Given the description of an element on the screen output the (x, y) to click on. 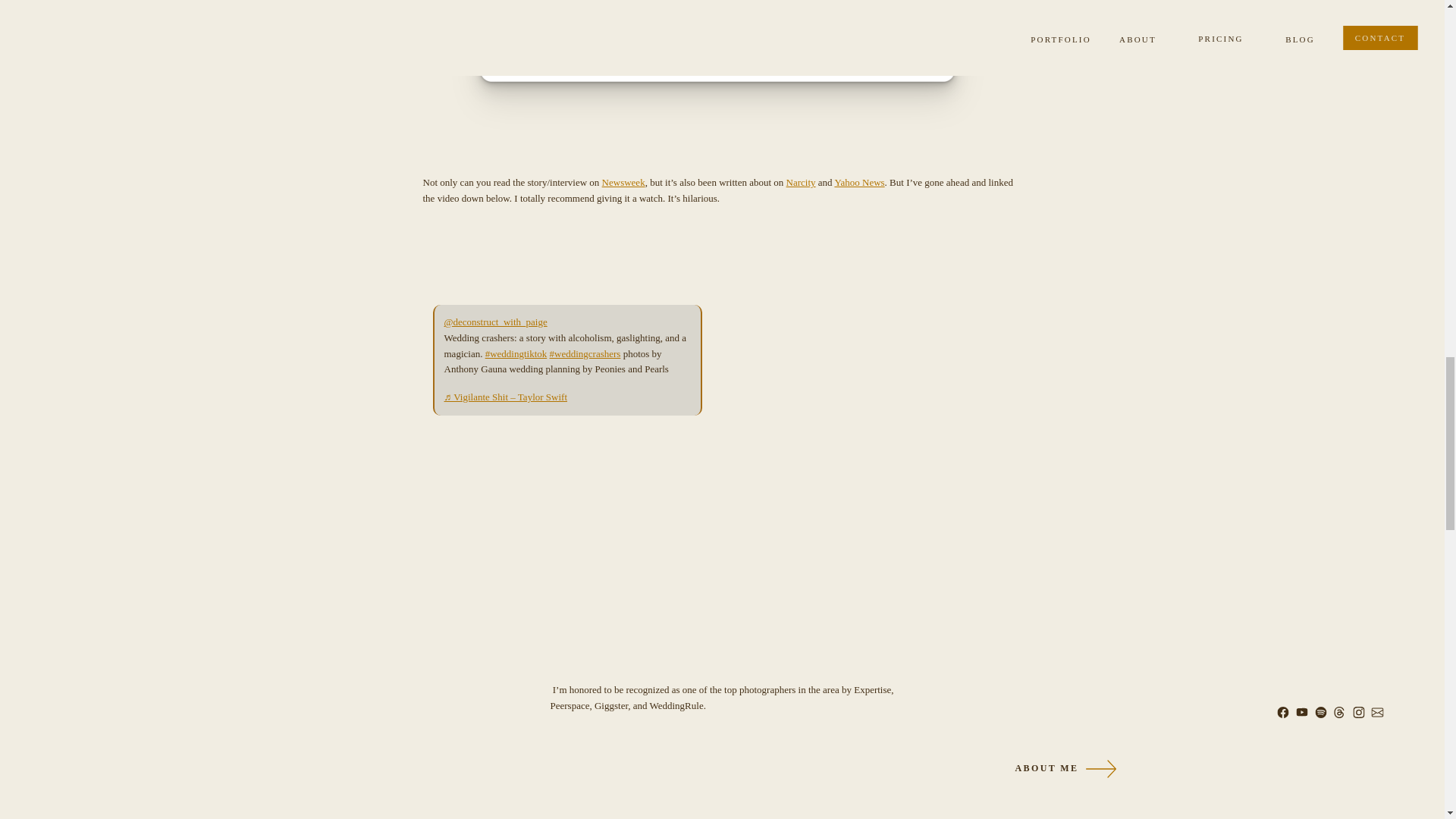
Newsweek (623, 182)
weddingtiktok (515, 353)
ABOUT ME (1002, 769)
Narcity (800, 182)
Yahoo News (858, 182)
weddingcrashers (585, 353)
